Given the description of an element on the screen output the (x, y) to click on. 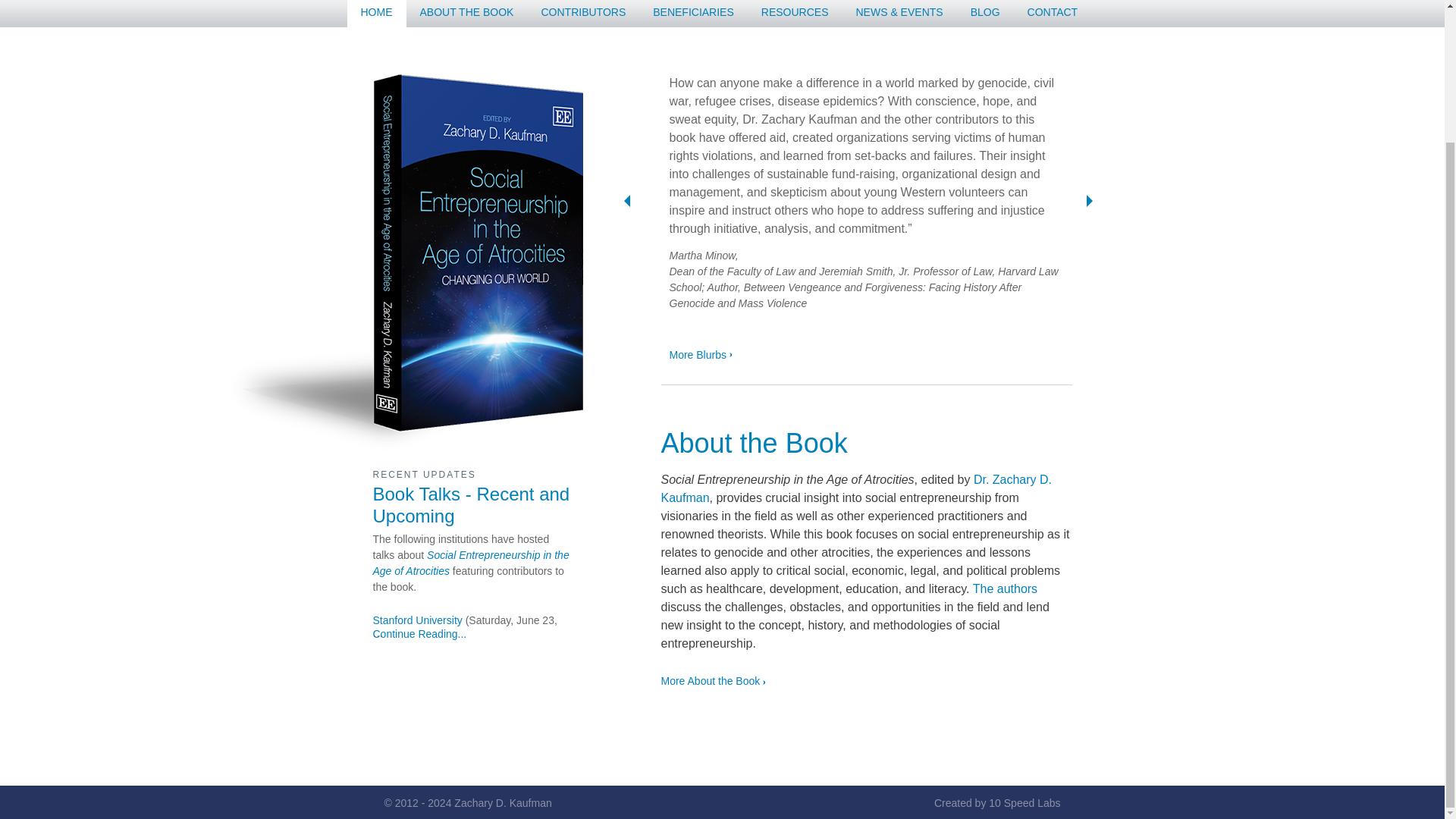
Zachary D. Kaufman (502, 802)
Social Entrepreneurship in the Age of Atrocities (470, 562)
Blog (984, 14)
CONTRIBUTORS (583, 14)
The authors (1004, 588)
RESOURCES (795, 14)
CONTACT (1052, 14)
Continue Reading... (419, 633)
Continue Reading... (419, 633)
More About the Book (713, 681)
